Given the description of an element on the screen output the (x, y) to click on. 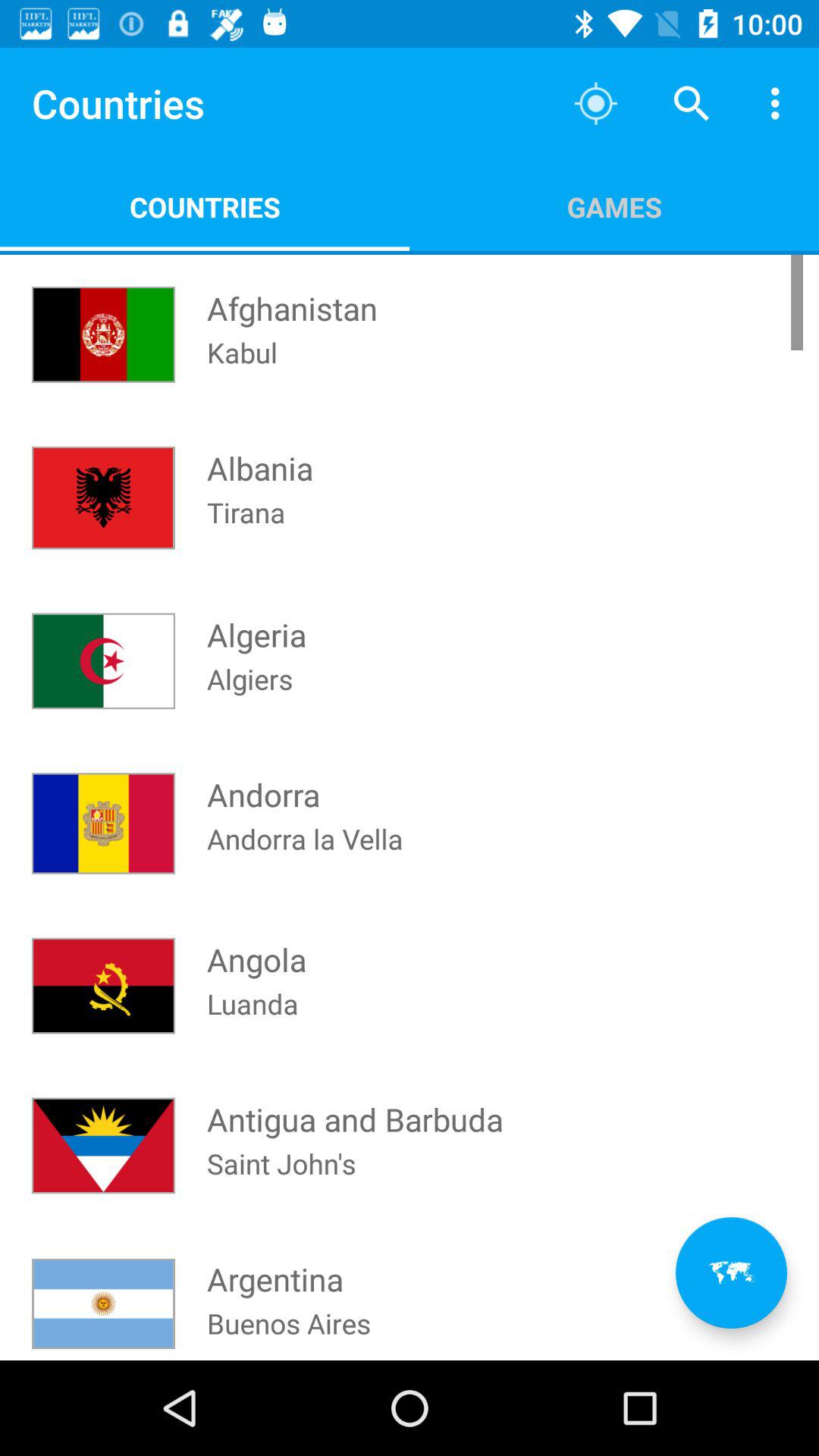
tap the andorra la vella at the center (305, 858)
